Given the description of an element on the screen output the (x, y) to click on. 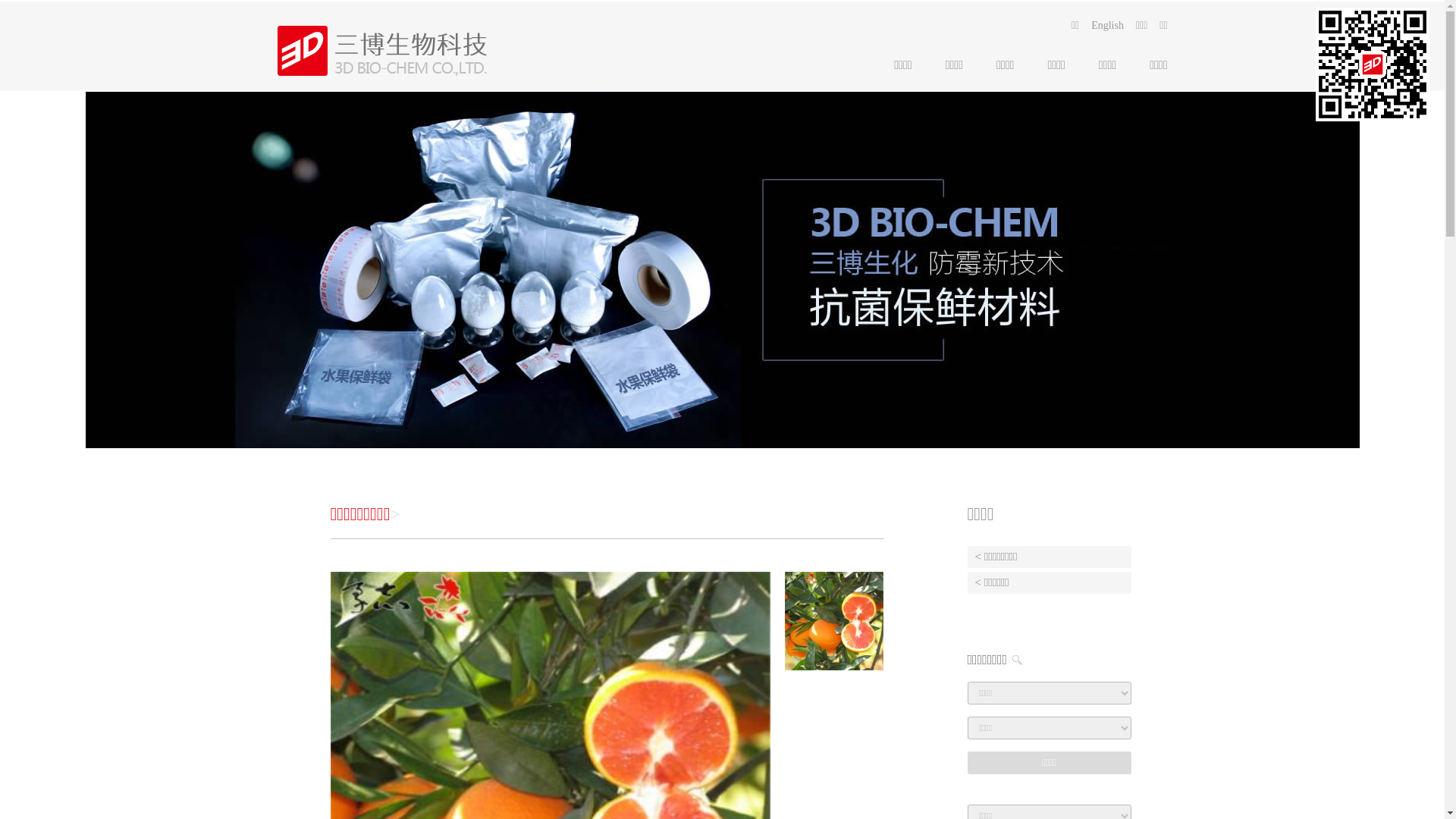
English Element type: text (1107, 25)
